Given the description of an element on the screen output the (x, y) to click on. 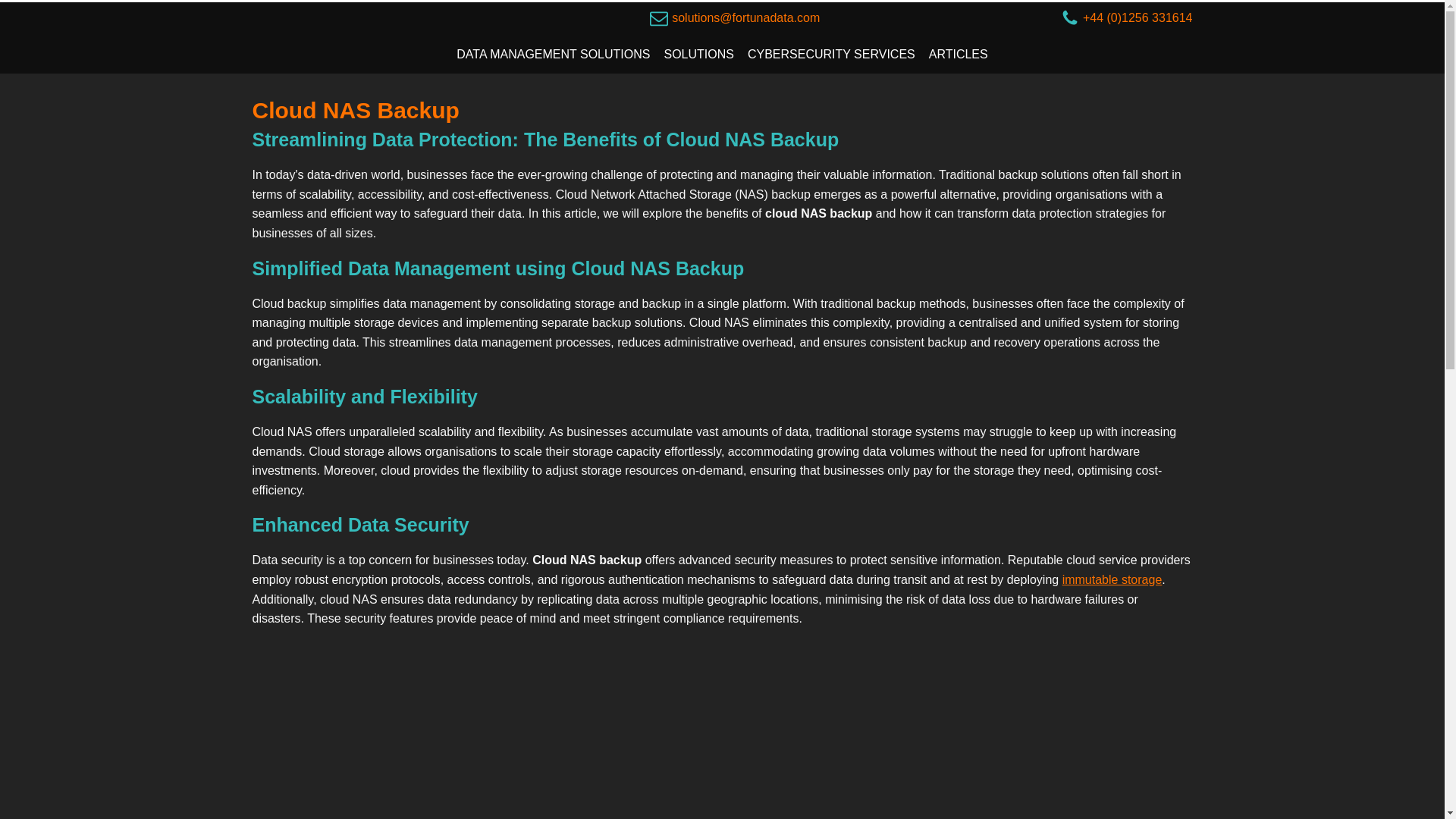
DATA MANAGEMENT SOLUTIONS (552, 54)
CYBERSECURITY SERVICES (831, 54)
SOLUTIONS (697, 54)
ARTICLES (957, 54)
